Given the description of an element on the screen output the (x, y) to click on. 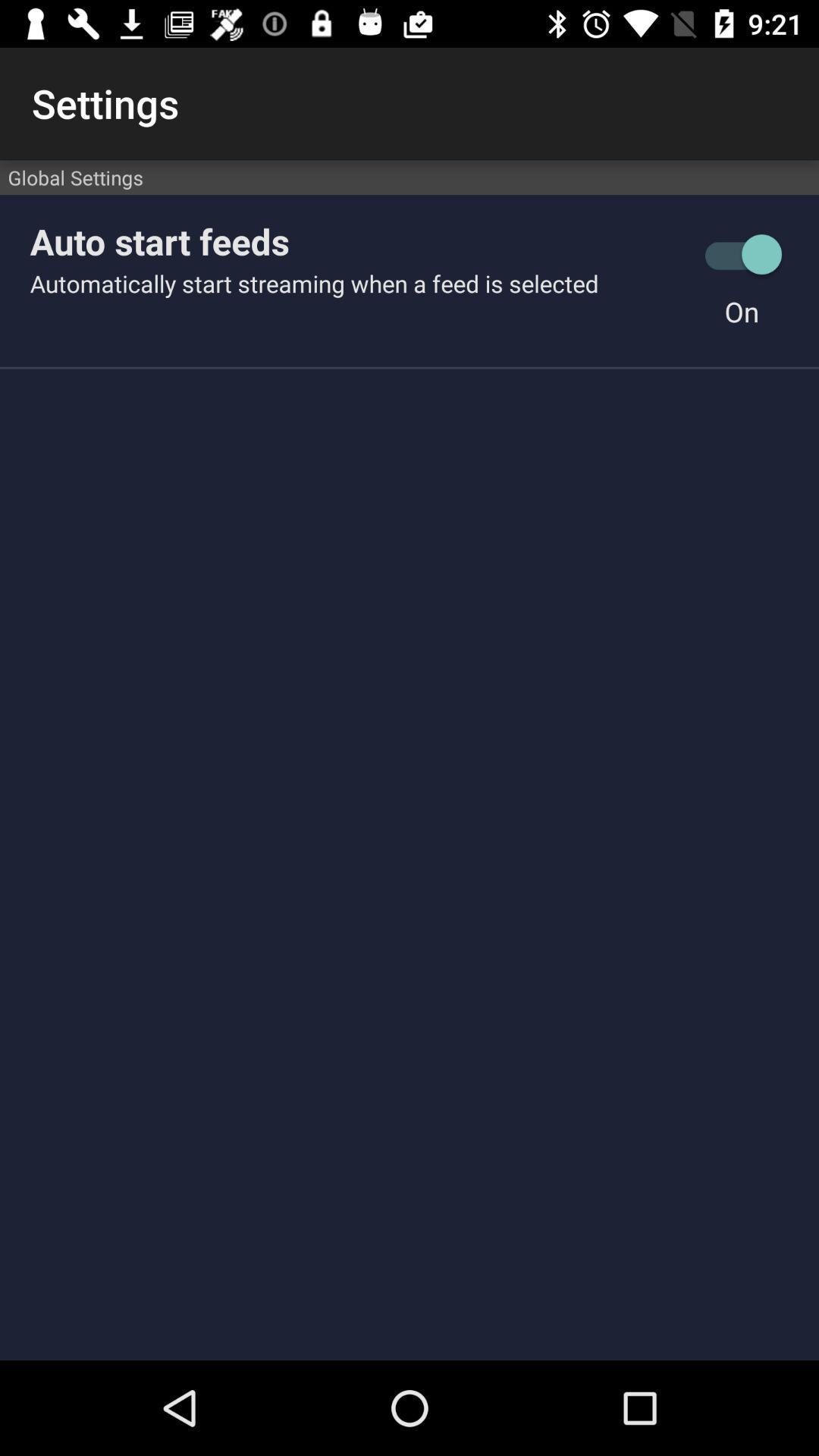
turn on the icon above on (741, 254)
